Given the description of an element on the screen output the (x, y) to click on. 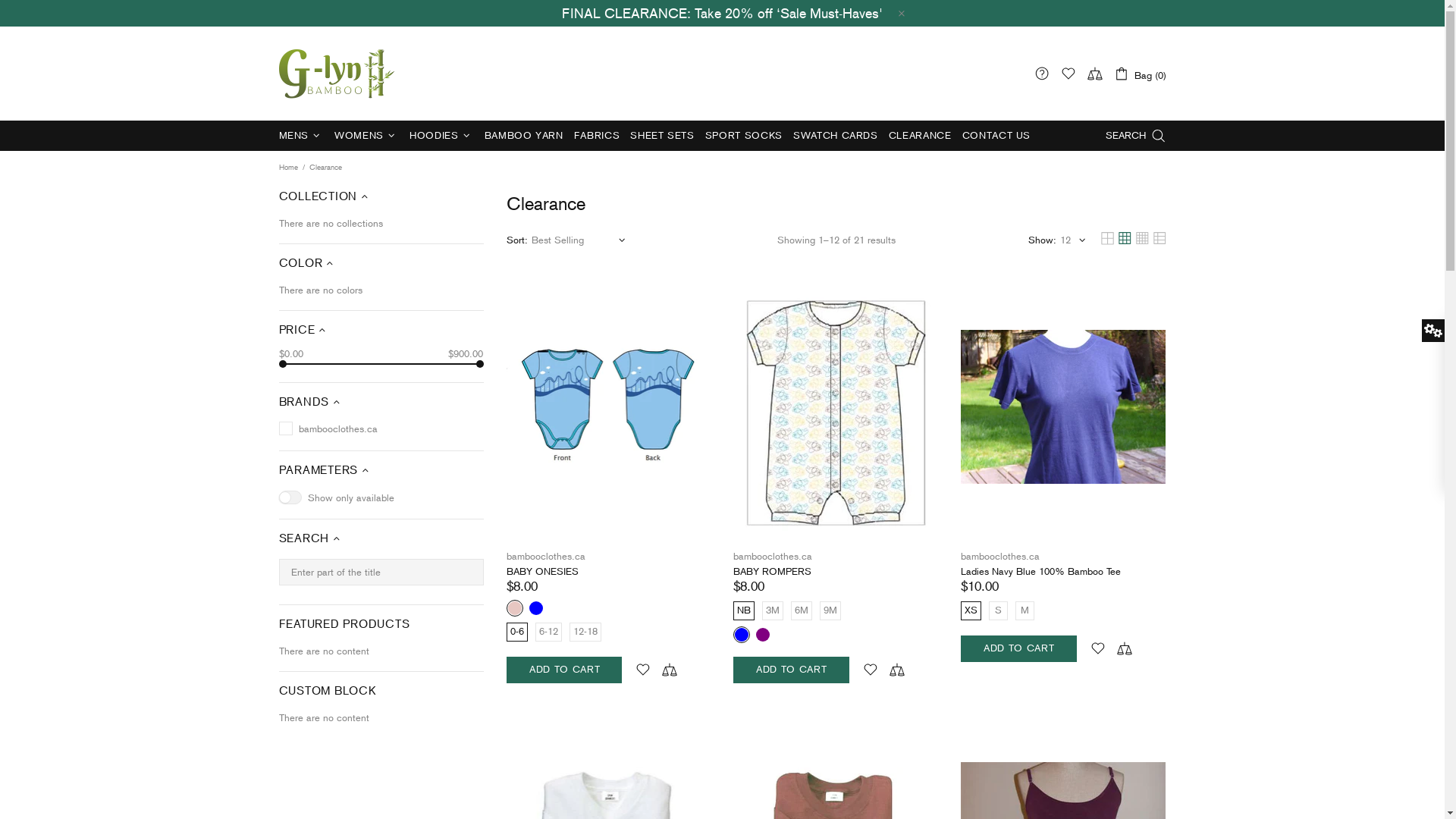
CONTACT US Element type: text (996, 135)
FABRICS Element type: text (596, 135)
SEARCH Element type: text (1135, 135)
SPORT SOCKS Element type: text (743, 135)
BAMBOO YARN Element type: text (523, 135)
SWATCH CARDS Element type: text (835, 135)
bambooclothes.ca Element type: text (337, 73)
ADD TO CART Element type: text (1018, 648)
bambooclothes.ca Element type: text (772, 555)
Home Element type: text (287, 167)
BABY ROMPERS Element type: text (772, 570)
bambooclothes.ca Element type: text (545, 555)
bambooclothes.ca Element type: text (999, 555)
Bag (0) Element type: text (1139, 72)
Ladies Navy Blue 100% Bamboo Tee Element type: text (1040, 570)
ADD TO CART Element type: text (563, 669)
ADD TO CART Element type: text (790, 669)
BABY ONESIES Element type: text (542, 570)
WOMENS Element type: text (366, 135)
HOODIES Element type: text (441, 135)
MENS Element type: text (301, 135)
SHEET SETS Element type: text (661, 135)
CLEARANCE Element type: text (920, 135)
